Given the description of an element on the screen output the (x, y) to click on. 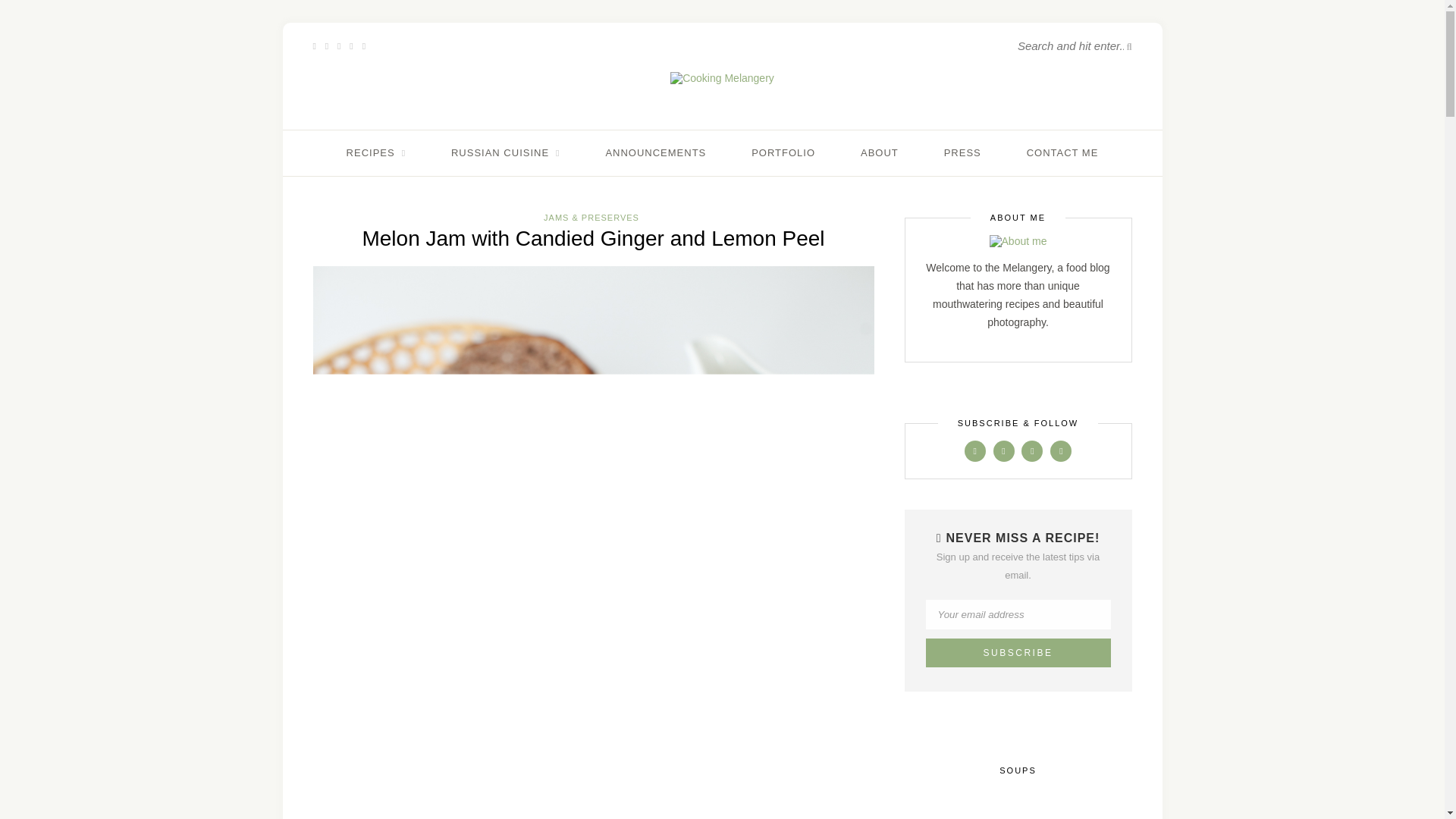
Subscribe (1016, 652)
RECIPES (376, 153)
PORTFOLIO (783, 153)
ANNOUNCEMENTS (655, 153)
RUSSIAN CUISINE (505, 153)
CONTACT ME (1062, 153)
